Given the description of an element on the screen output the (x, y) to click on. 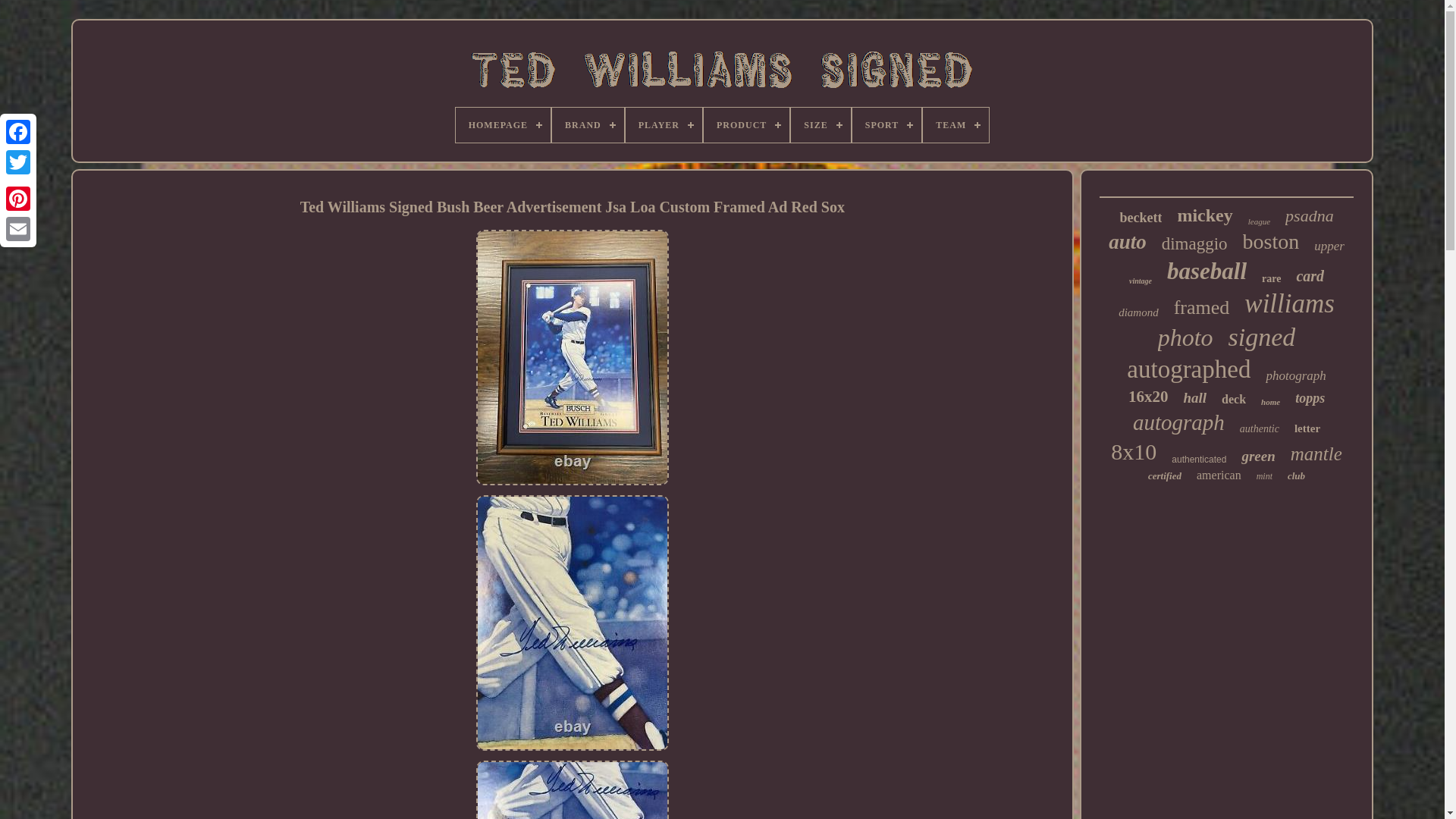
HOMEPAGE (502, 124)
PRODUCT (746, 124)
BRAND (587, 124)
PLAYER (663, 124)
